Given the description of an element on the screen output the (x, y) to click on. 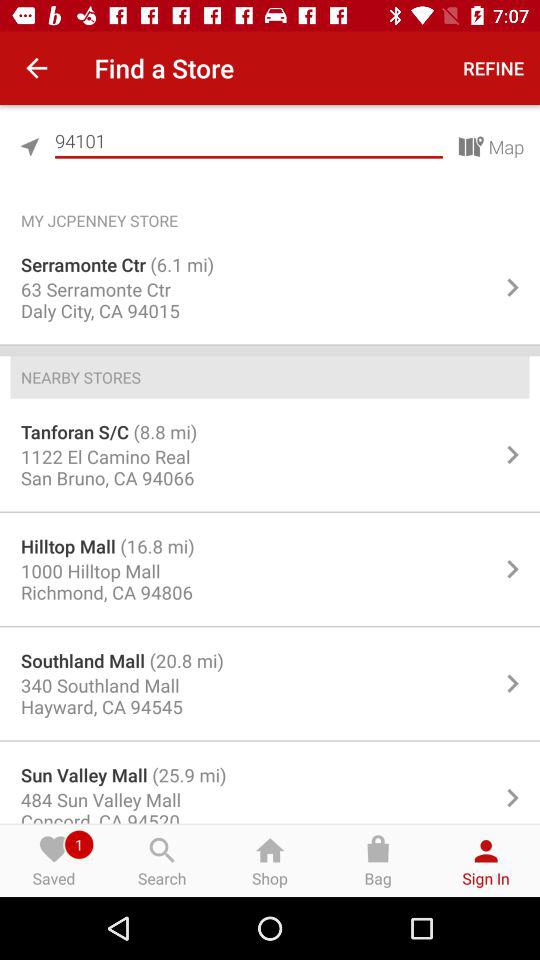
click on the text field at the top of the page (249, 142)
click on bag (378, 860)
click on refine (493, 68)
